Given the description of an element on the screen output the (x, y) to click on. 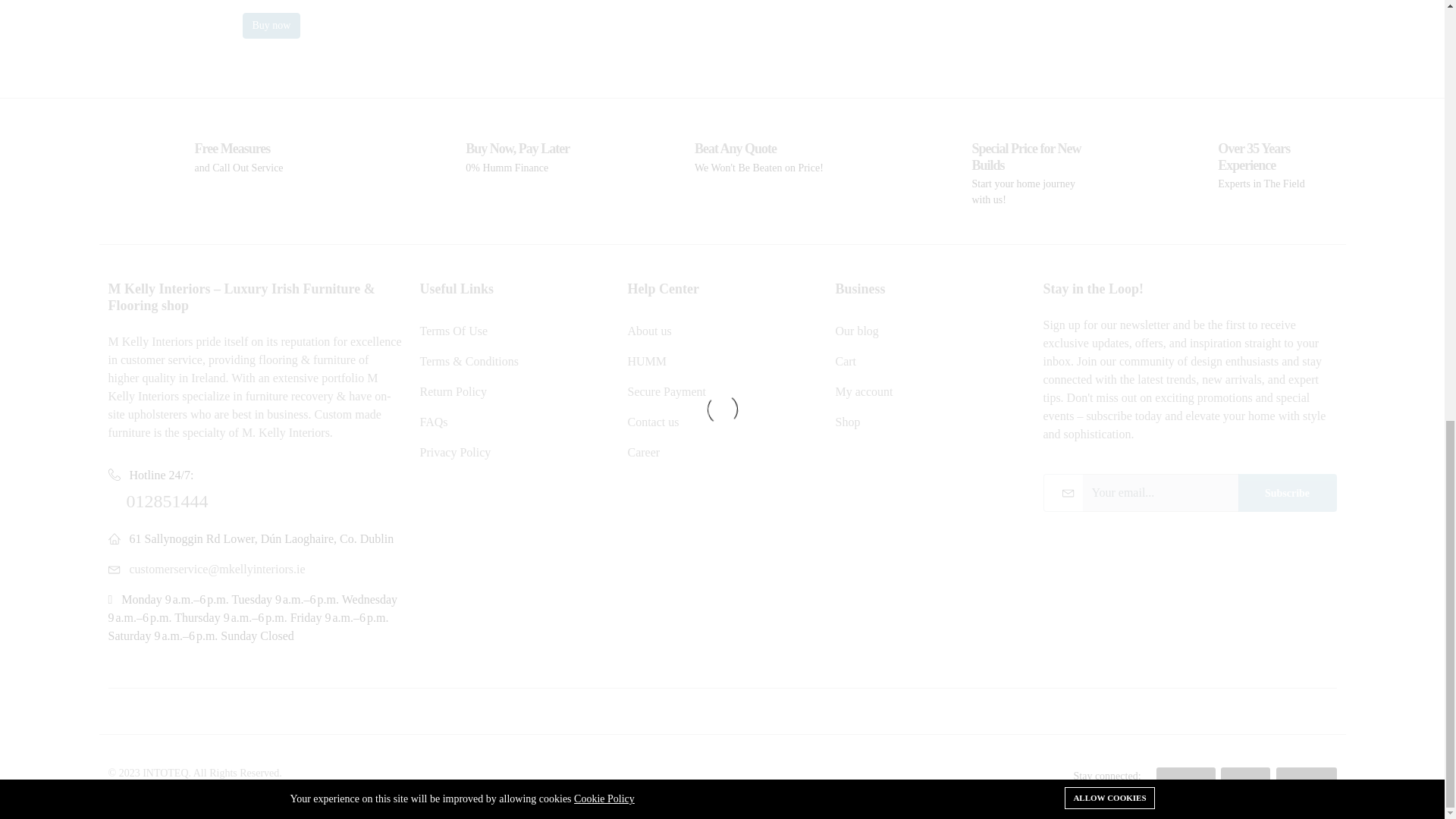
TikTok (1245, 775)
Instagram (1306, 775)
Facebook (1185, 775)
